Given the description of an element on the screen output the (x, y) to click on. 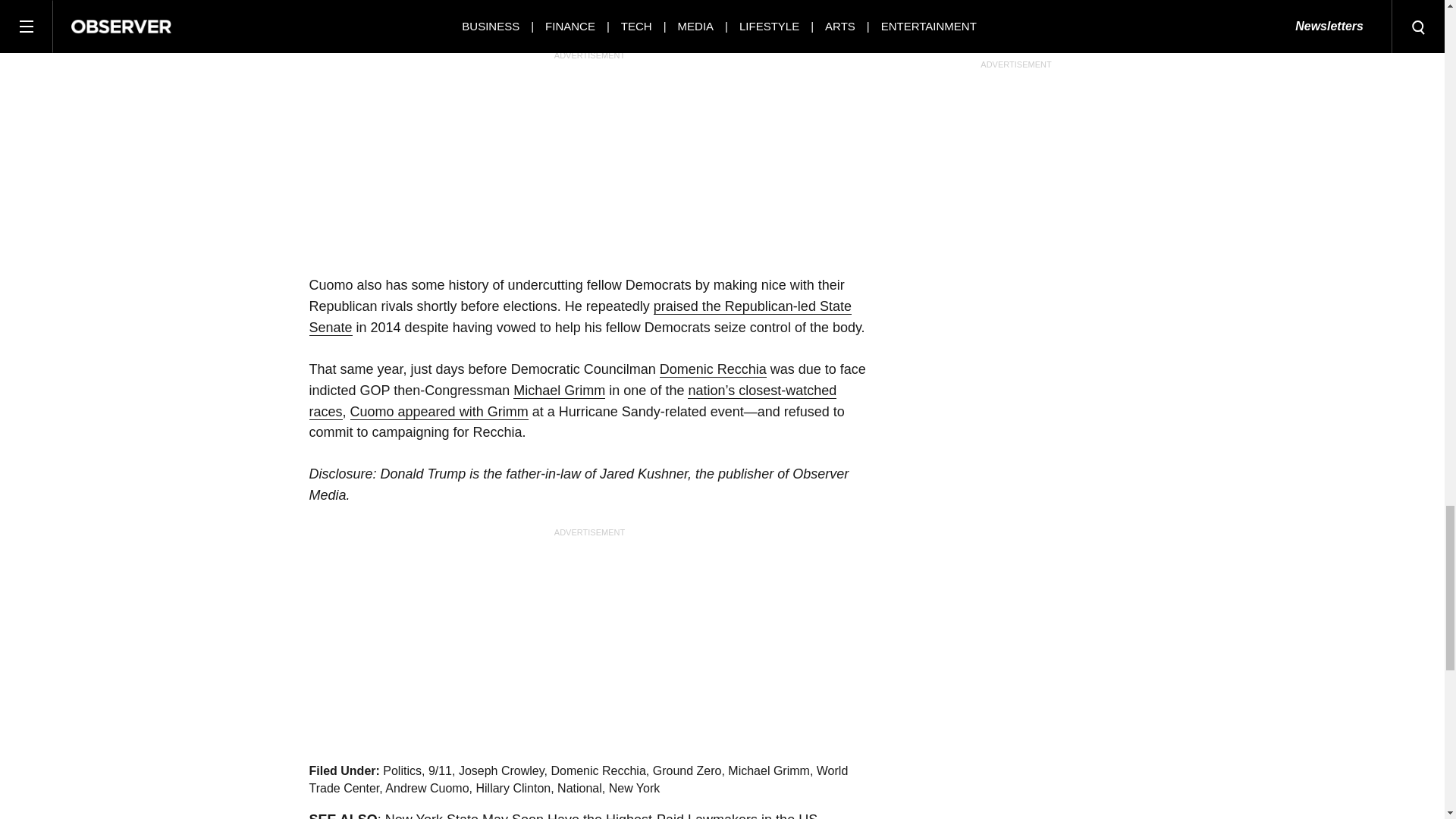
Michael Grimm (559, 390)
Domenic Recchia (713, 369)
